Given the description of an element on the screen output the (x, y) to click on. 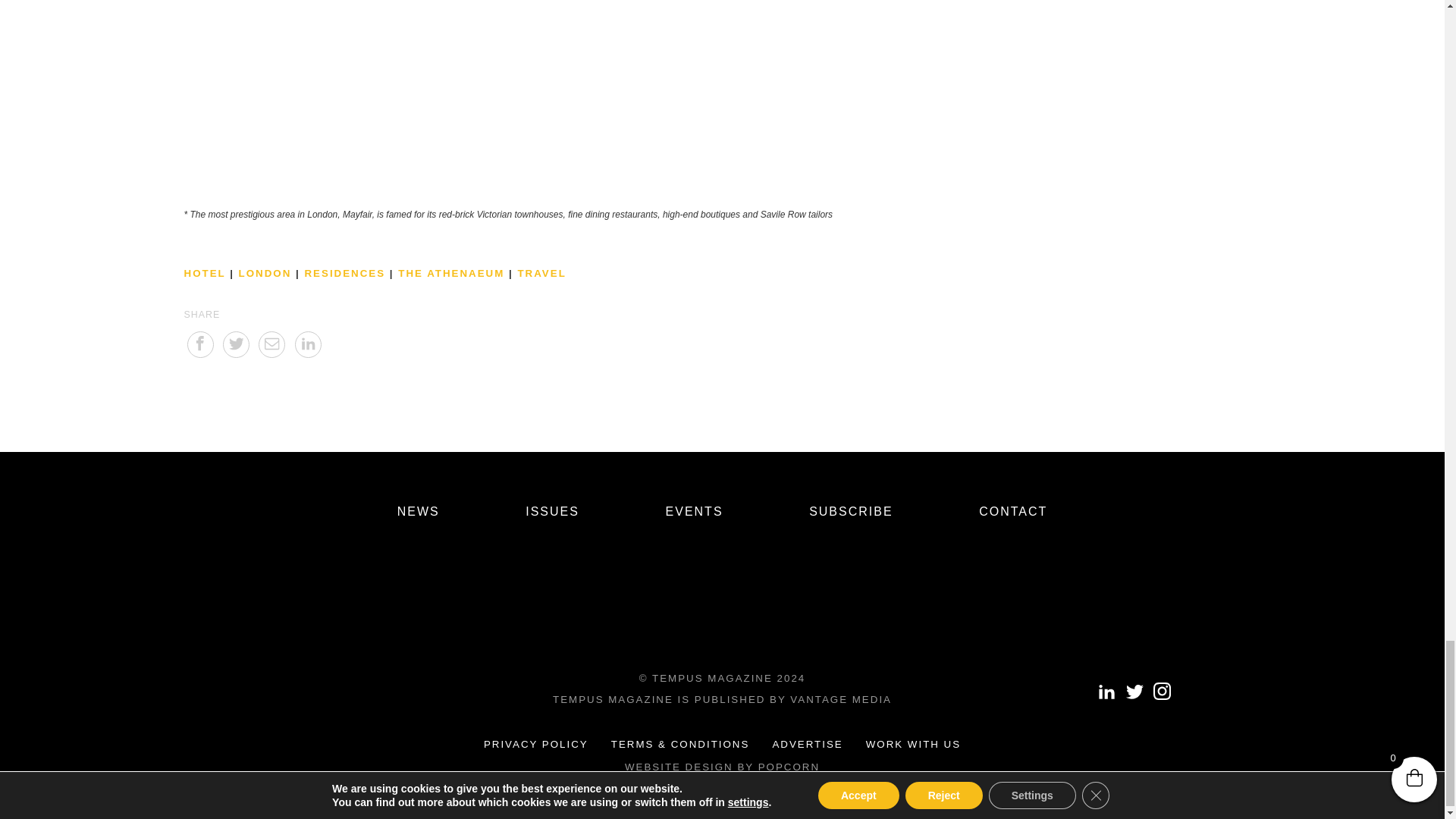
HOTEL (204, 273)
RESIDENCES (344, 273)
TRAVEL (541, 273)
LONDON (265, 273)
THE ATHENAEUM (450, 273)
